Given the description of an element on the screen output the (x, y) to click on. 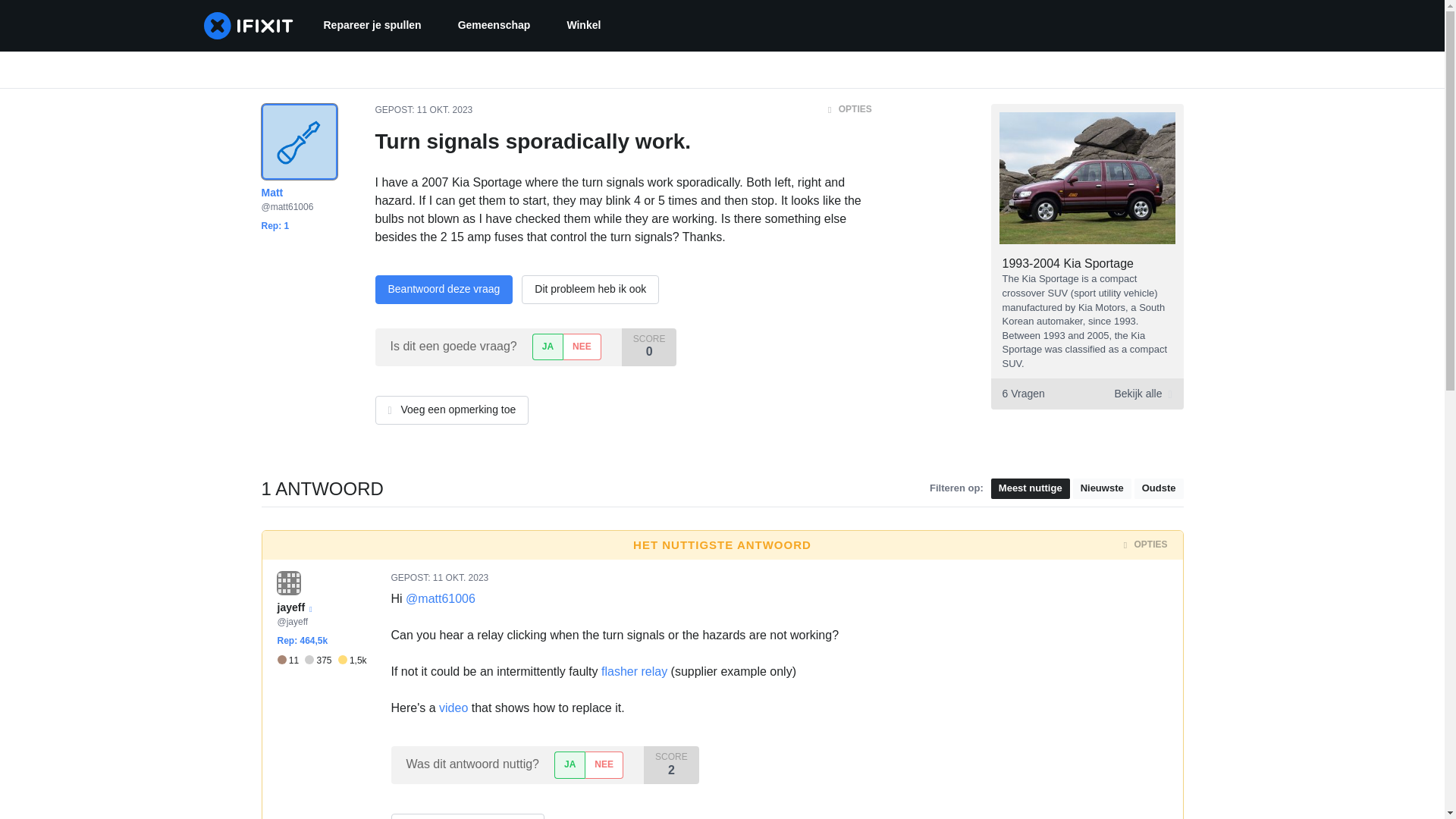
Nieuwste (1102, 488)
Voeg een opmerking toe (451, 410)
NEE (581, 346)
GEPOST: 11 OKT. 2023 (440, 577)
375 Zilver badges (320, 659)
1509 Goud badges (351, 659)
Wed, 11 Oct 2023 07:43:26 -0700 (443, 109)
flasher relay (633, 671)
GEPOST: 11 OKT. 2023 (422, 109)
Repareer je spullen (371, 25)
JA (547, 346)
Gemeenschap (493, 25)
11 375 1,5k (322, 659)
video (453, 707)
JA (569, 764)
